Given the description of an element on the screen output the (x, y) to click on. 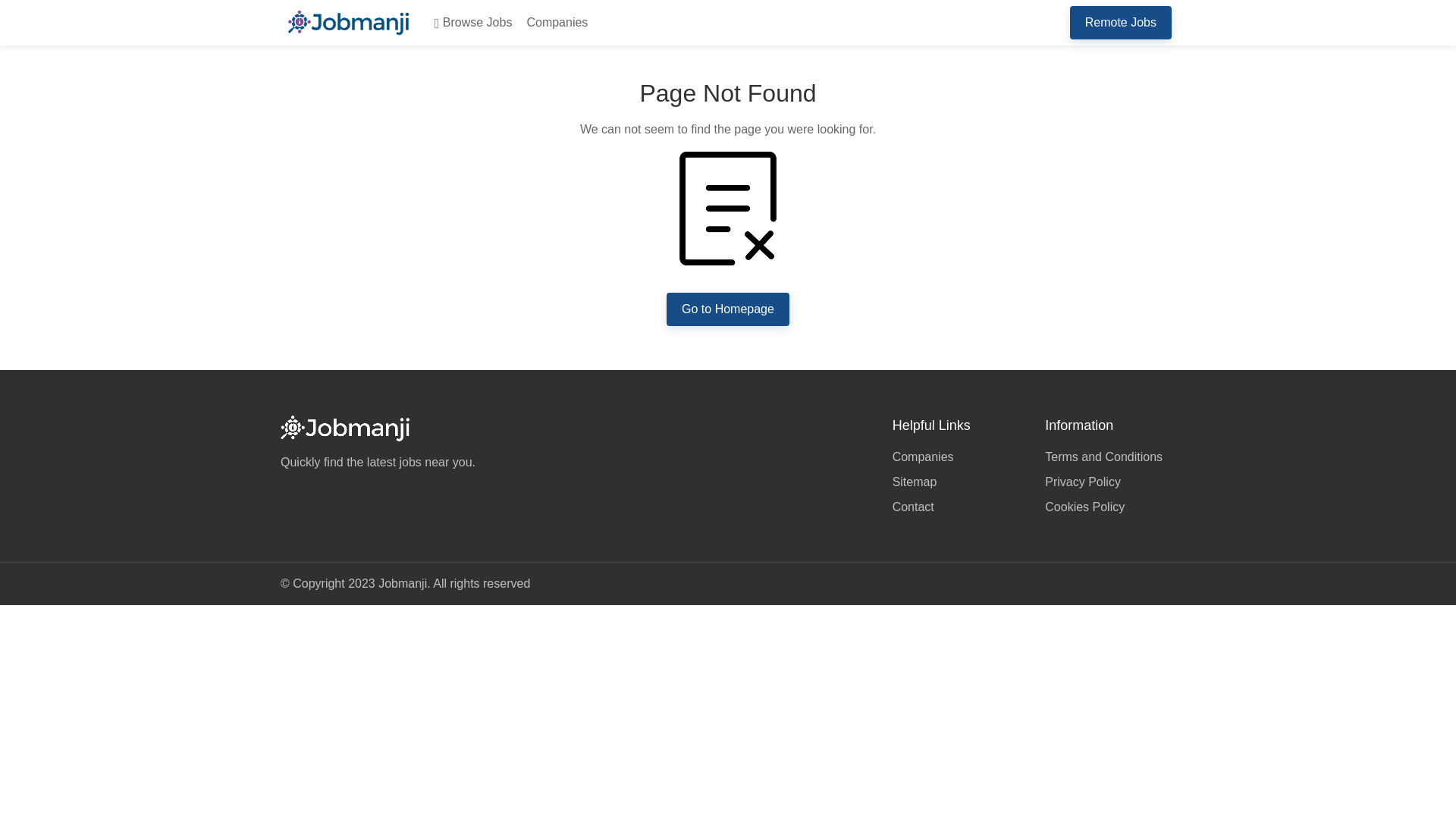
Privacy Policy (1109, 481)
Go to Homepage (727, 308)
Browse Jobs (470, 22)
Companies (957, 458)
Remote Jobs (1121, 22)
Contact (957, 505)
Sitemap (957, 481)
Cookies Policy (1109, 505)
Companies (553, 22)
Terms and Conditions (1109, 458)
